Given the description of an element on the screen output the (x, y) to click on. 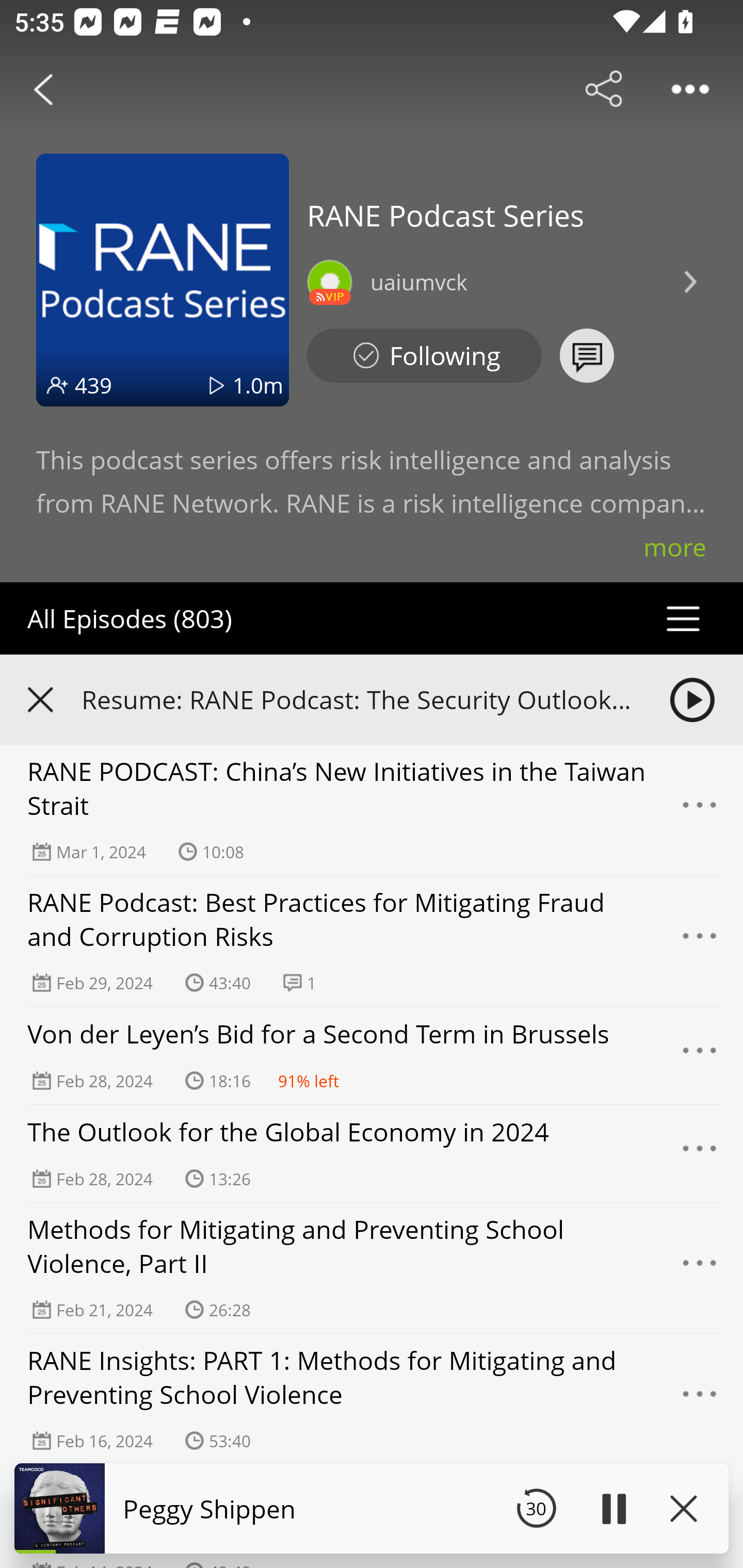
Back (43, 88)
Podbean Following (423, 355)
439 (93, 384)
more (674, 546)
Menu (699, 809)
Menu (699, 941)
Menu (699, 1055)
Menu (699, 1153)
Menu (699, 1268)
Menu (699, 1399)
Peggy Shippen 30 Seek Backward 187955.0 Play (371, 1508)
Play (613, 1507)
30 Seek Backward (536, 1508)
